Given the description of an element on the screen output the (x, y) to click on. 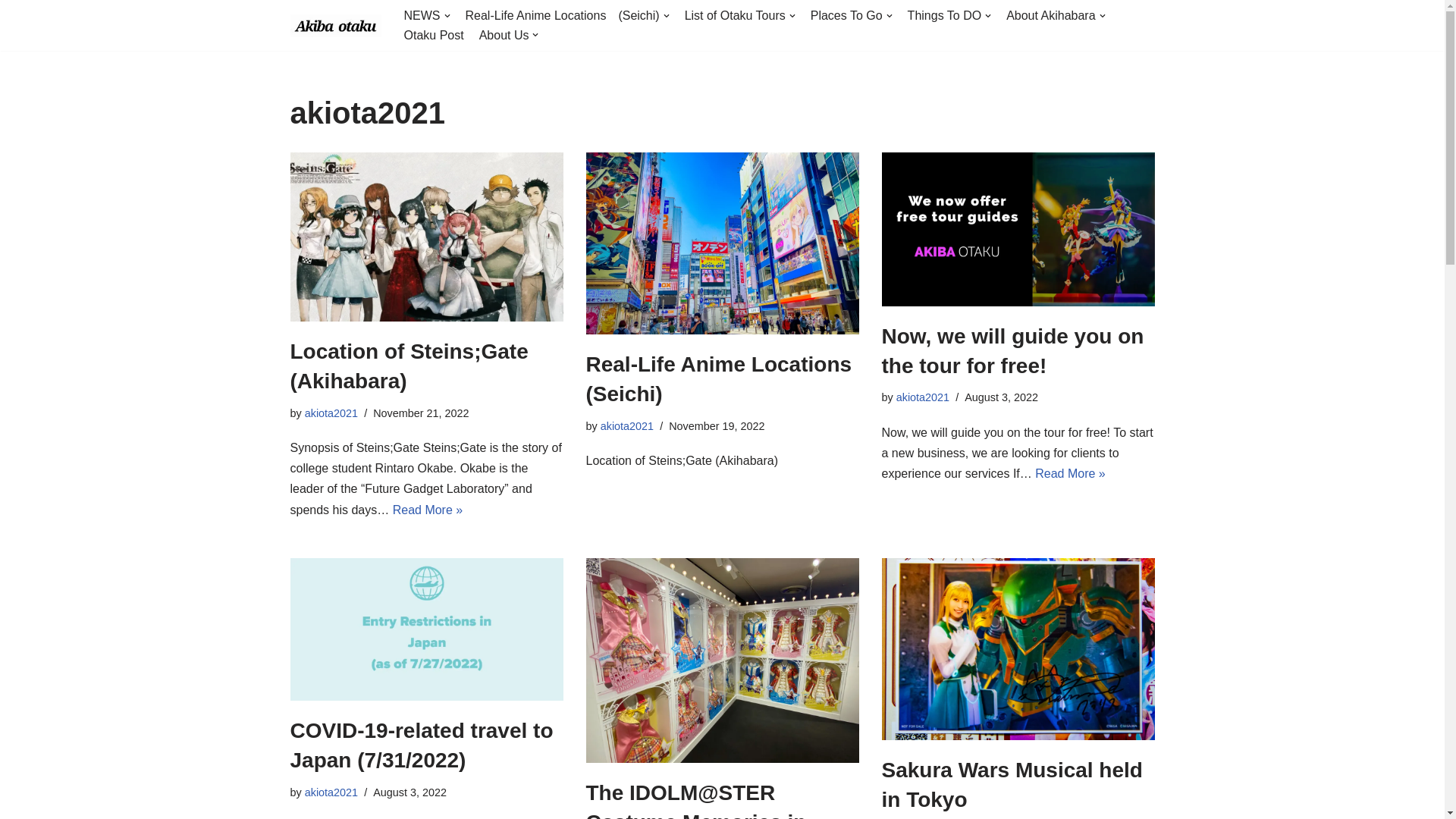
List of Otaku Tours (739, 15)
Posts by akiota2021 (626, 426)
Places To Go (851, 15)
Things To DO (949, 15)
About Akihabara (1055, 15)
Posts by akiota2021 (331, 413)
Sakura Wars Musical held in Tokyo (1017, 648)
Posts by akiota2021 (922, 397)
Otaku Post (433, 35)
AKIBA OTAKU (334, 25)
